Given the description of an element on the screen output the (x, y) to click on. 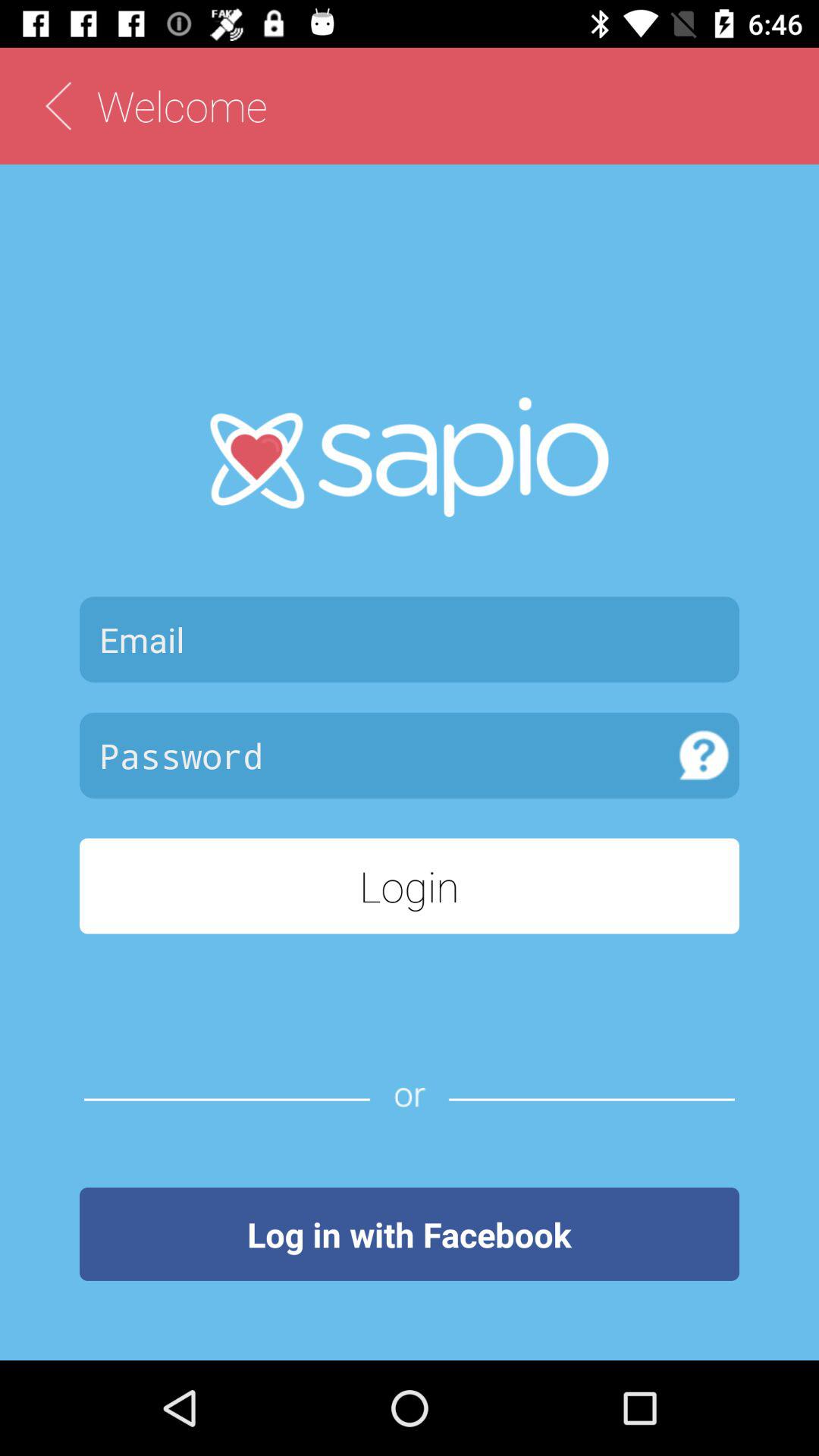
enter email address (409, 639)
